Given the description of an element on the screen output the (x, y) to click on. 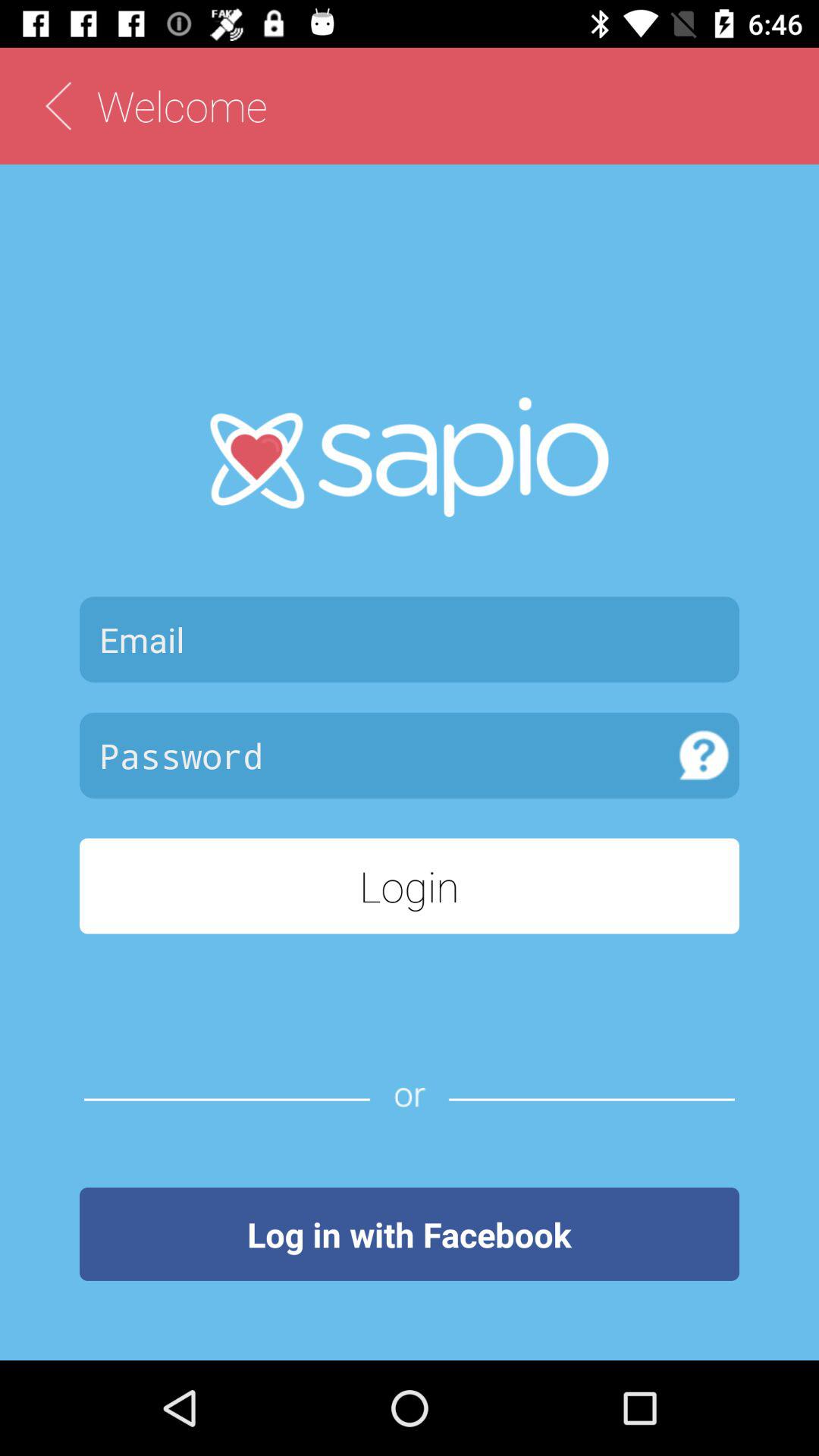
enter email address (409, 639)
